Given the description of an element on the screen output the (x, y) to click on. 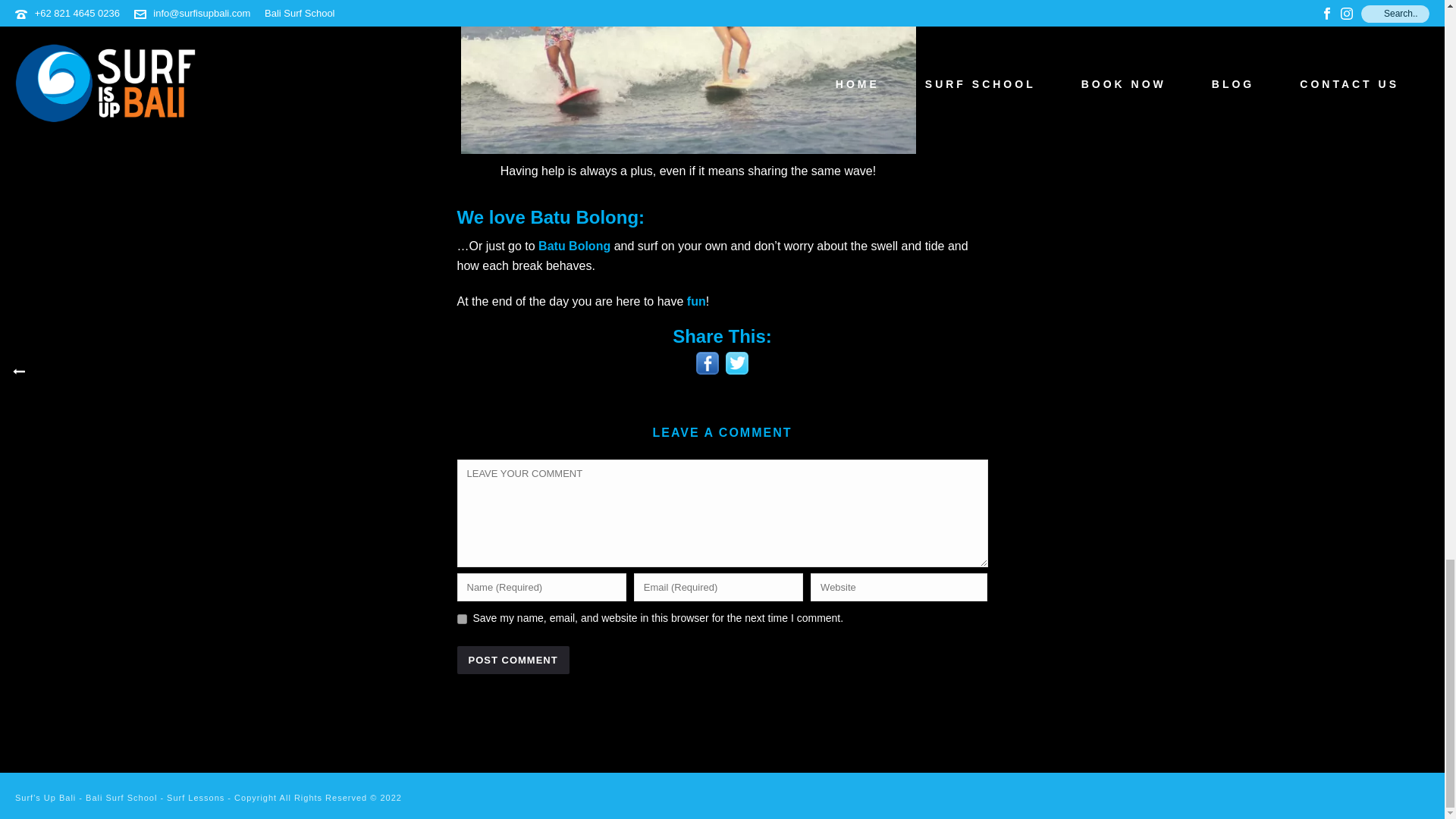
yes (461, 619)
Batu Bolong (574, 245)
fun (696, 300)
POST COMMENT (513, 660)
